Given the description of an element on the screen output the (x, y) to click on. 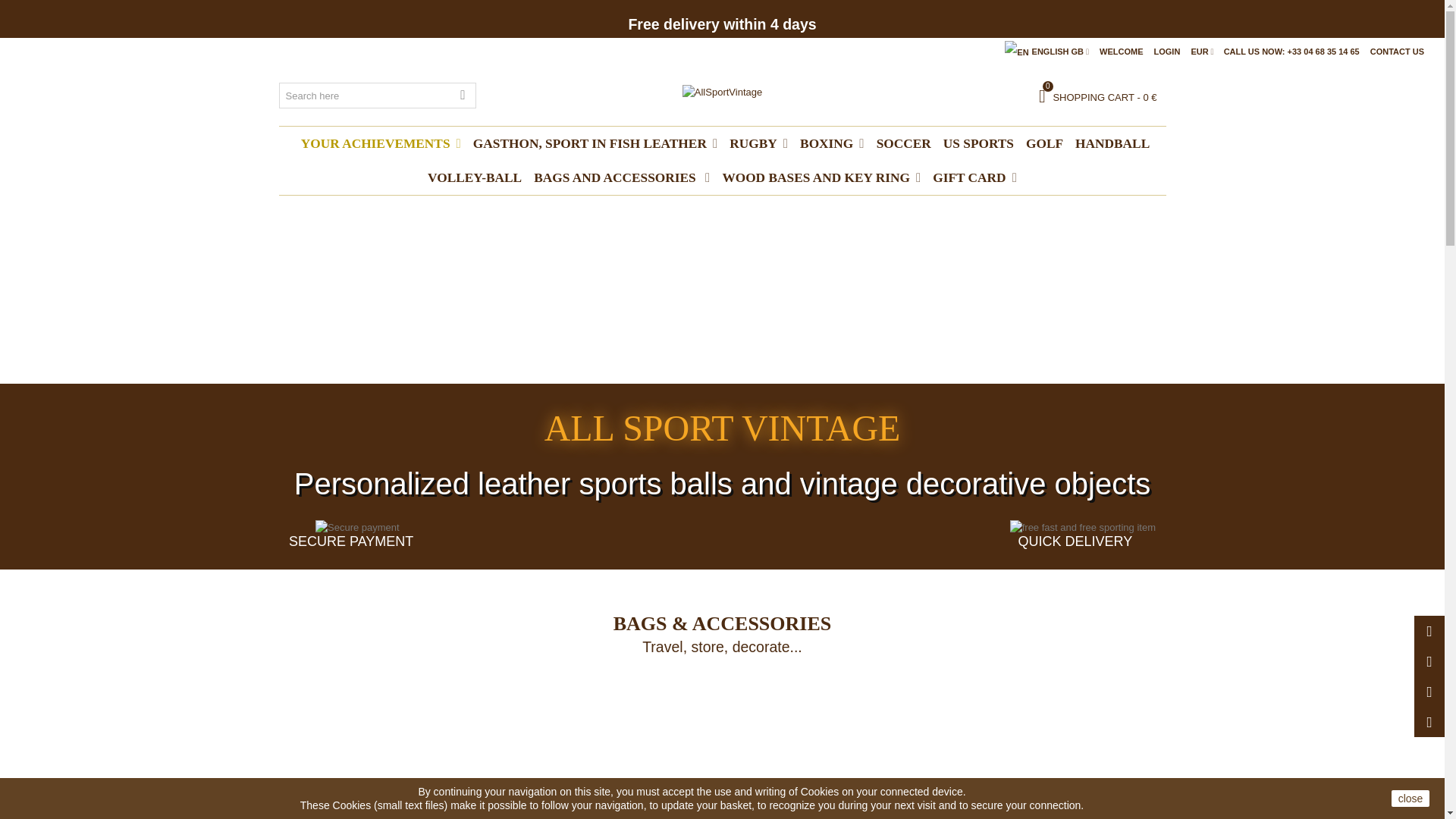
Rugby (758, 143)
YOUR ACHIEVEMENTS (381, 143)
Fish leather (595, 143)
Handball (1112, 143)
Boxing (831, 143)
RUGBY (758, 143)
Log in to your customer account (1168, 51)
Sports US (978, 143)
GASTHON, SPORT IN FISH LEATHER (595, 143)
Football (903, 143)
